Given the description of an element on the screen output the (x, y) to click on. 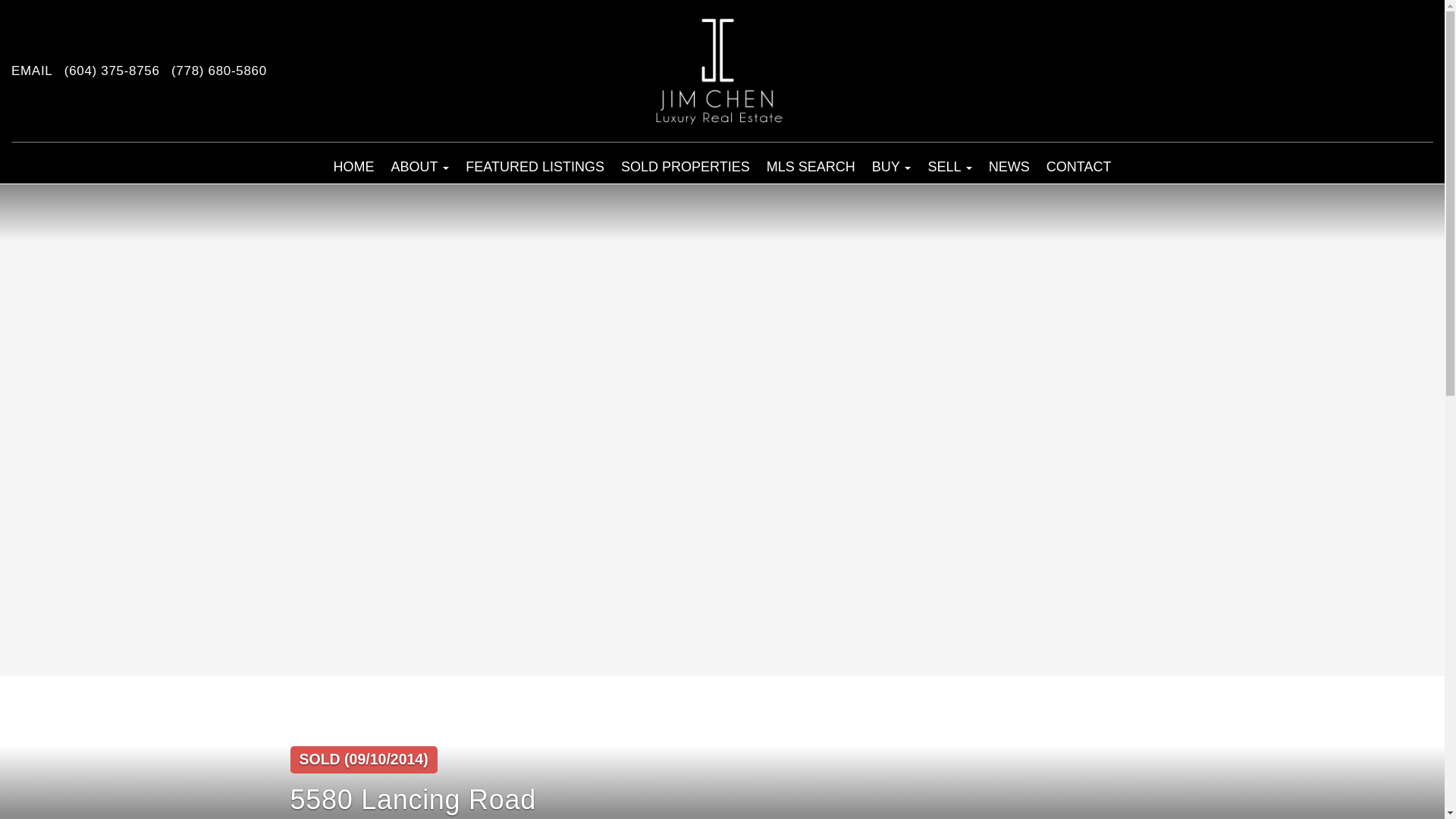
SOLD PROPERTIES (685, 166)
NEWS (1008, 166)
CONTACT (1078, 166)
ABOUT (420, 166)
BUY (891, 166)
HOME (353, 166)
MLS SEARCH (810, 166)
EMAIL (31, 70)
FEATURED LISTINGS (534, 166)
SELL (948, 166)
